Given the description of an element on the screen output the (x, y) to click on. 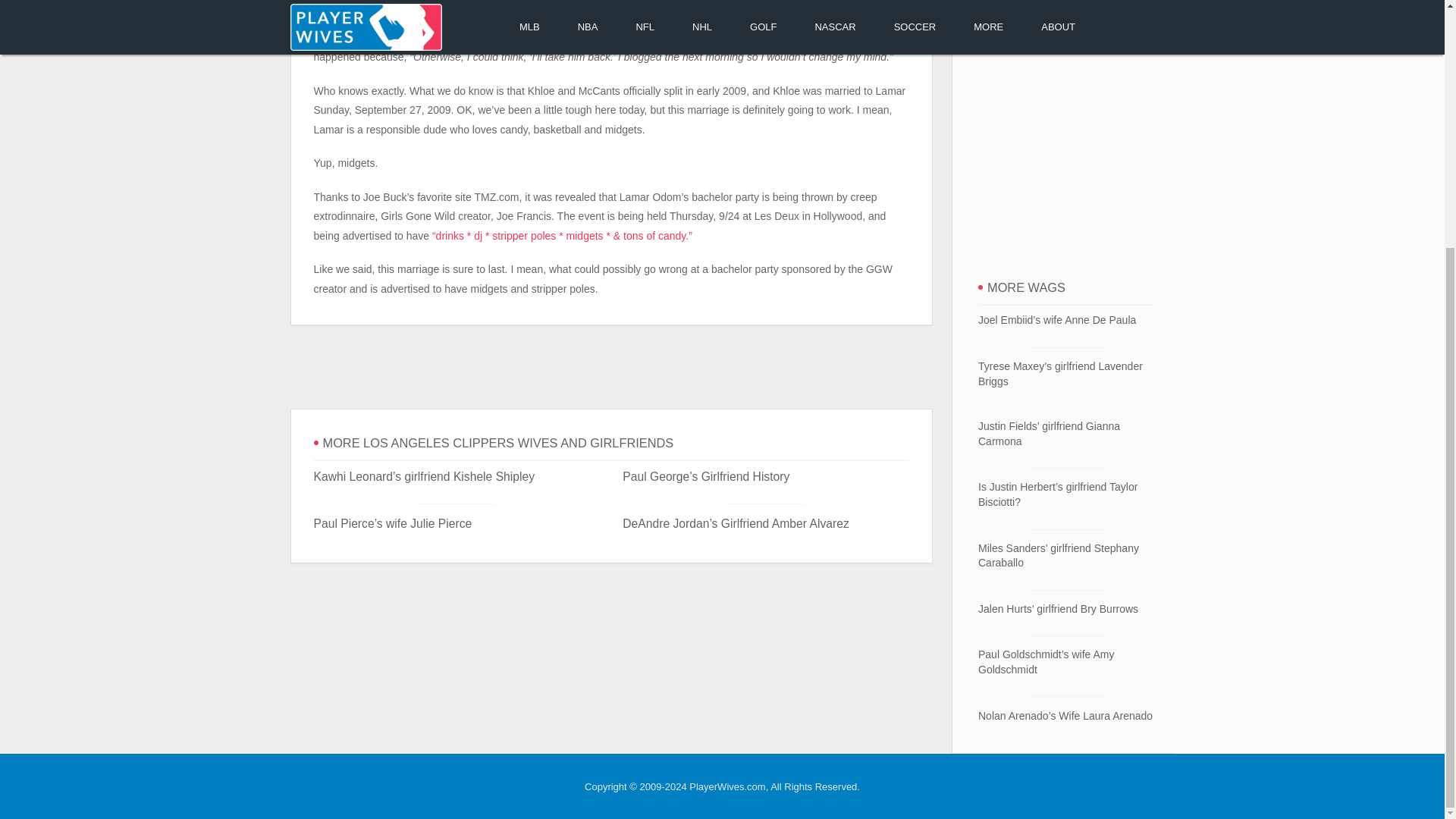
Advertisement (610, 366)
